Given the description of an element on the screen output the (x, y) to click on. 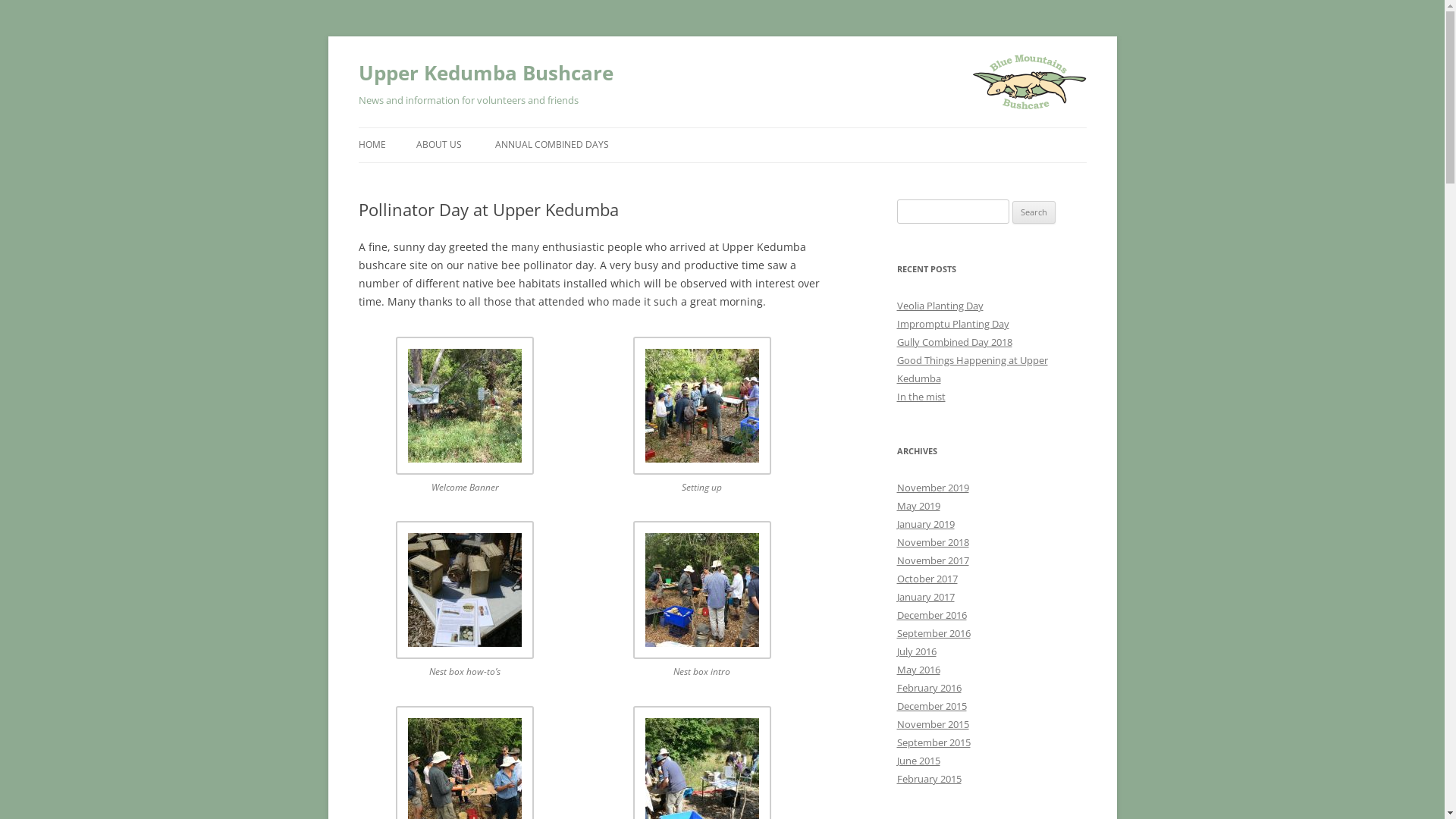
HOME Element type: text (371, 144)
February 2015 Element type: text (928, 778)
Good Things Happening at Upper Kedumba Element type: text (971, 369)
November 2019 Element type: text (932, 487)
February 2016 Element type: text (928, 687)
May 2019 Element type: text (917, 505)
September 2016 Element type: text (932, 633)
Impromptu Planting Day Element type: text (952, 323)
ANNUAL COMBINED DAYS Element type: text (551, 144)
In the mist Element type: text (920, 396)
October 2017 Element type: text (926, 578)
Veolia Planting Day Element type: text (939, 305)
November 2015 Element type: text (932, 724)
Gully Combined Day 2018 Element type: text (953, 341)
December 2016 Element type: text (931, 614)
May 2016 Element type: text (917, 669)
July 2016 Element type: text (915, 651)
Skip to content Element type: text (357, 145)
June 2015 Element type: text (917, 760)
January 2019 Element type: text (924, 523)
November 2017 Element type: text (932, 560)
December 2015 Element type: text (931, 705)
Upper Kedumba Bushcare Element type: text (484, 72)
November 2018 Element type: text (932, 542)
ABOUT US Element type: text (438, 144)
September 2015 Element type: text (932, 742)
Search Element type: text (1033, 211)
January 2017 Element type: text (924, 596)
HISTORY Element type: text (491, 177)
